Given the description of an element on the screen output the (x, y) to click on. 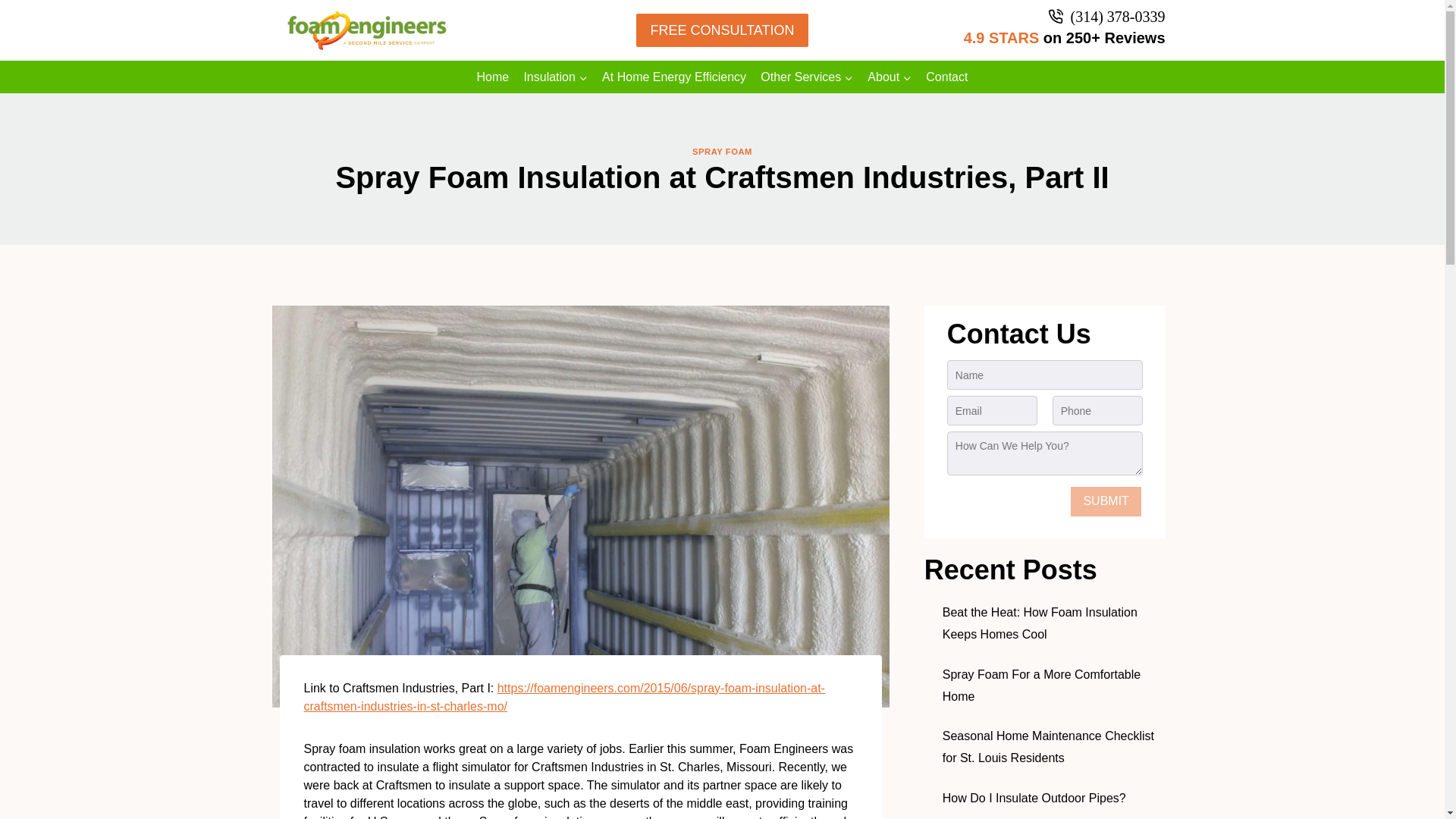
SPRAY FOAM (722, 151)
Home (492, 76)
FREE CONSULTATION (721, 29)
Insulation (555, 76)
At Home Energy Efficiency (674, 76)
Other Services (807, 76)
About (889, 76)
Contact (946, 76)
